Given the description of an element on the screen output the (x, y) to click on. 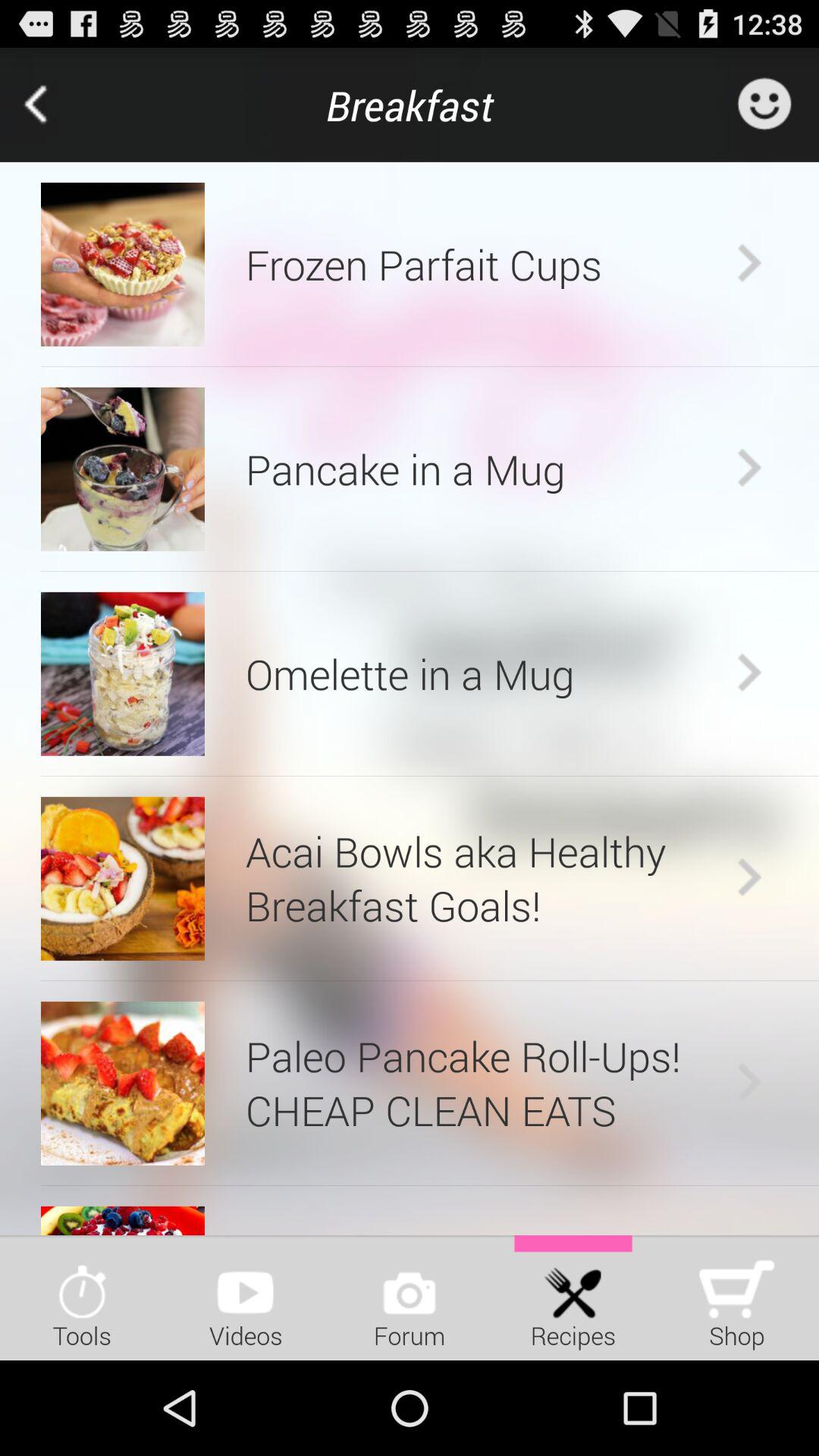
open the icon above frozen parfait cups app (409, 104)
